Given the description of an element on the screen output the (x, y) to click on. 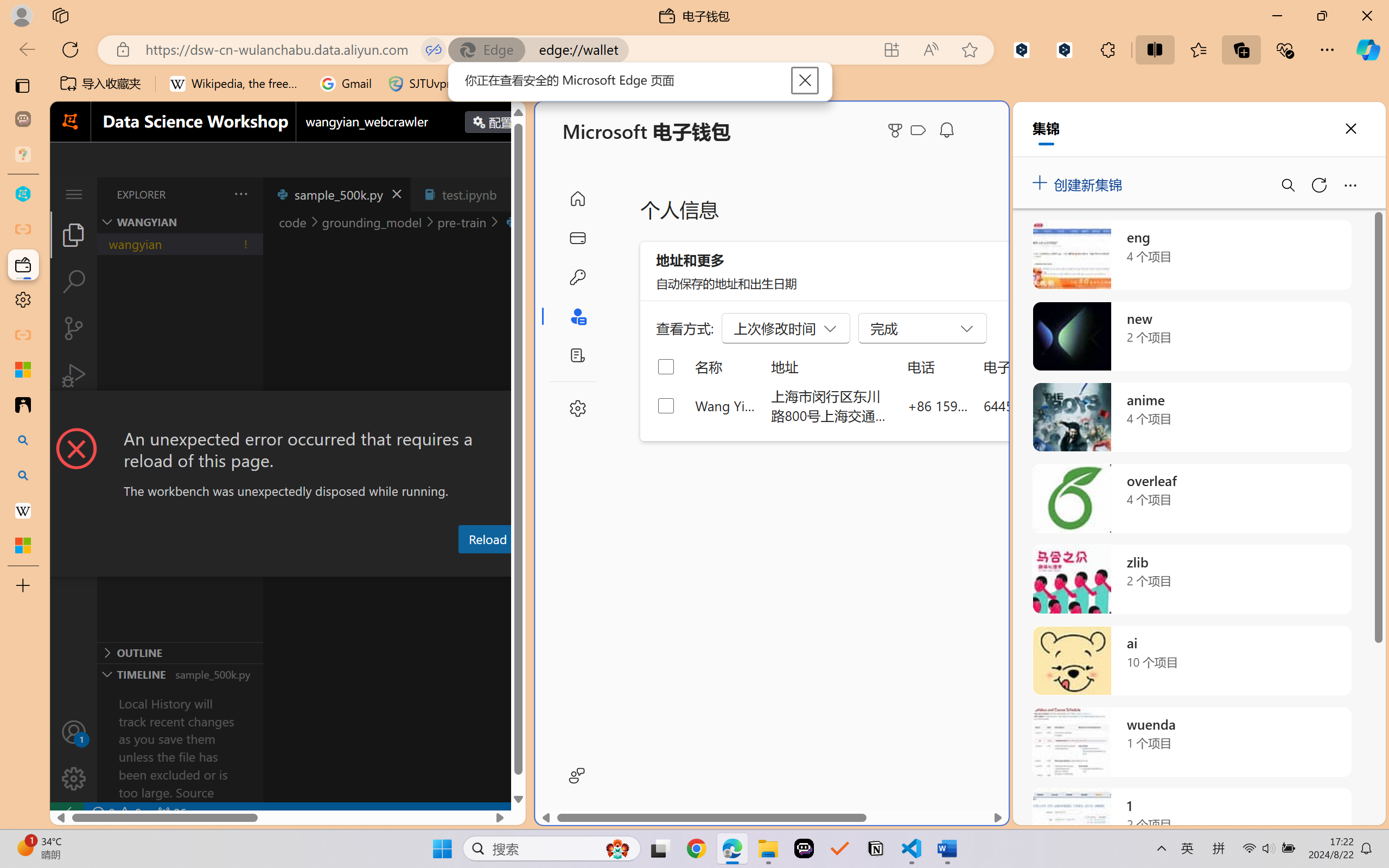
Manage (73, 778)
Microsoft security help and learning (22, 369)
Explorer actions (212, 194)
Gmail (345, 83)
